Given the description of an element on the screen output the (x, y) to click on. 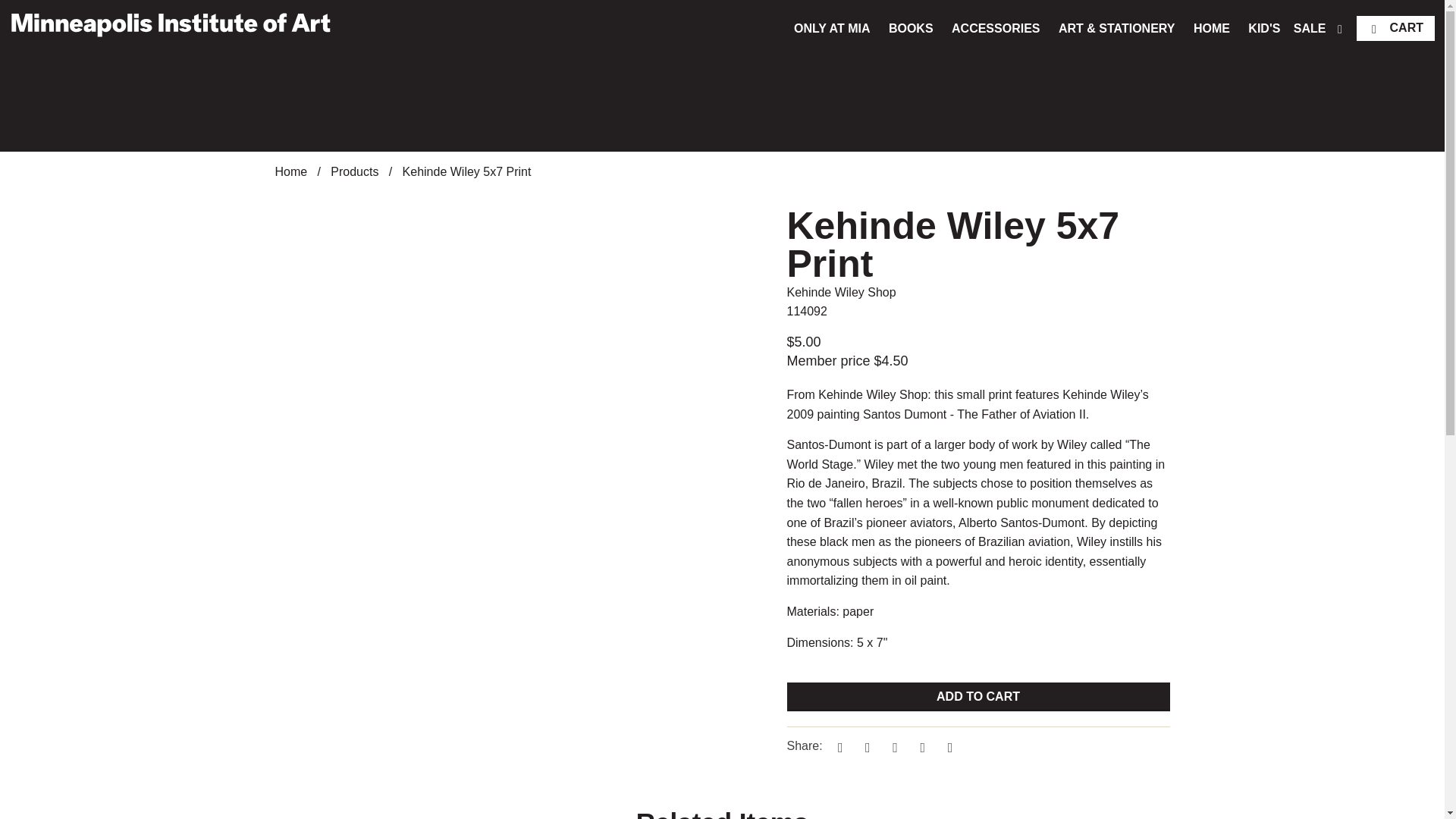
Share this on Pinterest (892, 746)
Share this on Twitter (837, 746)
Kehinde Wiley Shop (841, 291)
The Store at Mia - Minneapolis Institute of Art (170, 24)
Products (354, 171)
Email this to a friend (947, 746)
Share this on Facebook (865, 746)
The Store at Mia - Minneapolis Institute of Art (291, 171)
